Given the description of an element on the screen output the (x, y) to click on. 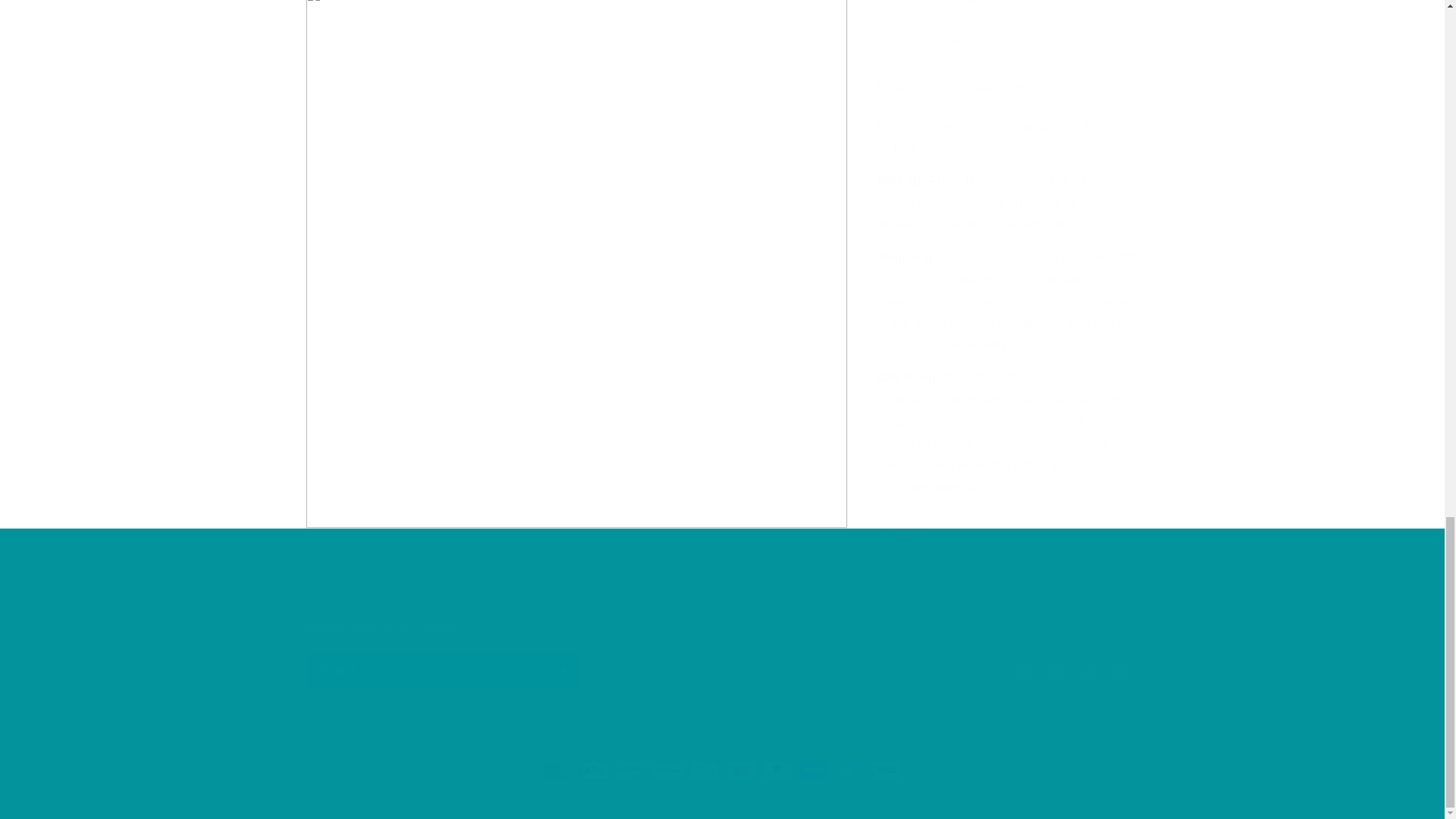
Julia E. Pfaff (955, 72)
